Given the description of an element on the screen output the (x, y) to click on. 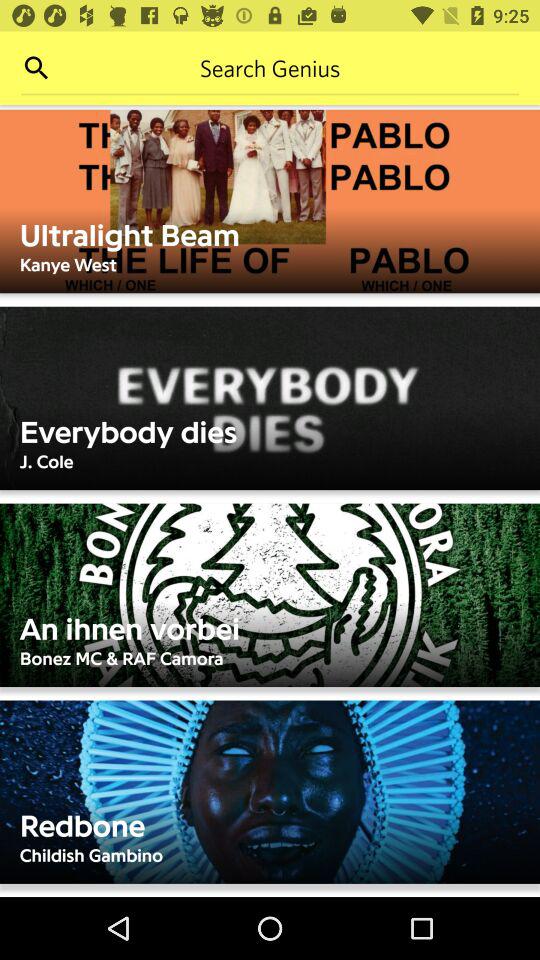
search genius engine text field (270, 67)
